Given the description of an element on the screen output the (x, y) to click on. 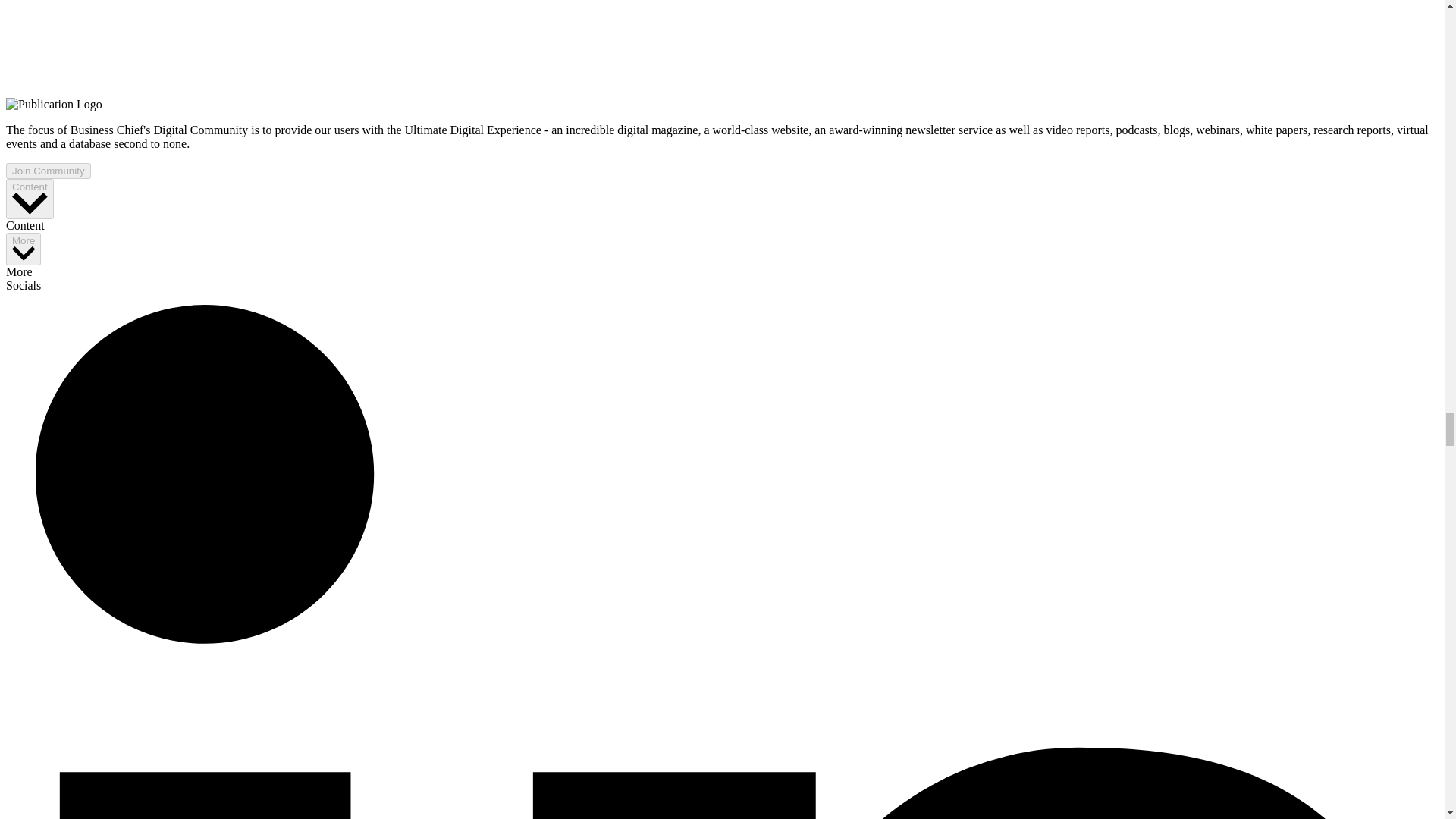
More (22, 248)
Content (29, 199)
Join Community (47, 170)
